Given the description of an element on the screen output the (x, y) to click on. 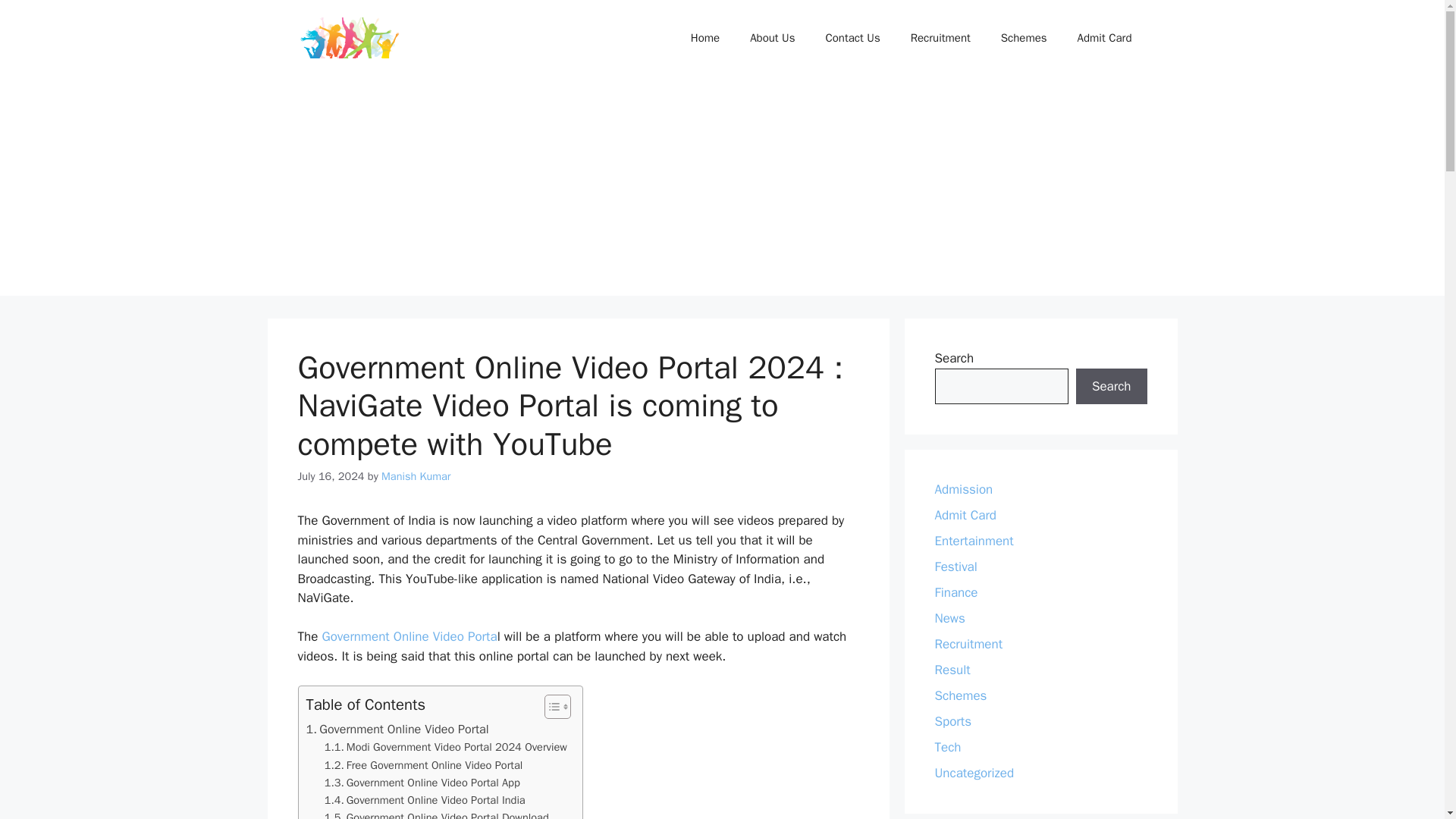
Admission (963, 489)
Government Online Video Portal Download (436, 814)
Admit Card (964, 514)
Government Online Video Portal App (421, 782)
Free Government Online Video Portal (423, 764)
Government Online Video Portal App (421, 782)
Free Government Online Video Portal (423, 764)
Government Online Video Portal India (424, 800)
View all posts by Manish Kumar (415, 476)
News (948, 618)
Government Online Video Portal (397, 729)
Government Online Video Porta (408, 636)
Government Online Video Portal India (424, 800)
Schemes (1023, 37)
Festival (955, 566)
